Given the description of an element on the screen output the (x, y) to click on. 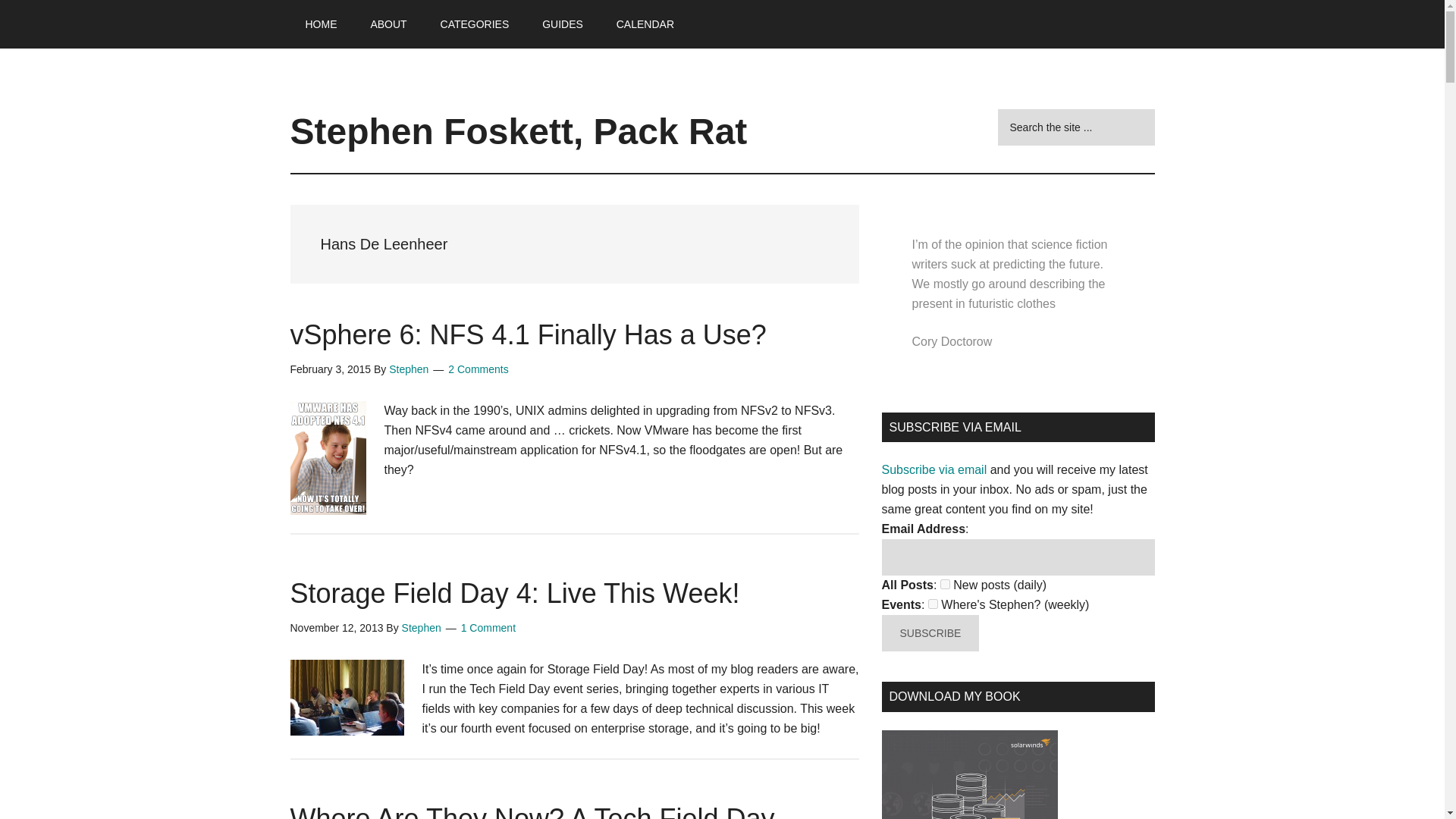
GUIDES (562, 24)
Mastodon (26, 9)
HOME (320, 24)
ABOUT (388, 24)
Subscribe (929, 633)
CATEGORIES (474, 24)
2 (932, 603)
1 (945, 583)
